Given the description of an element on the screen output the (x, y) to click on. 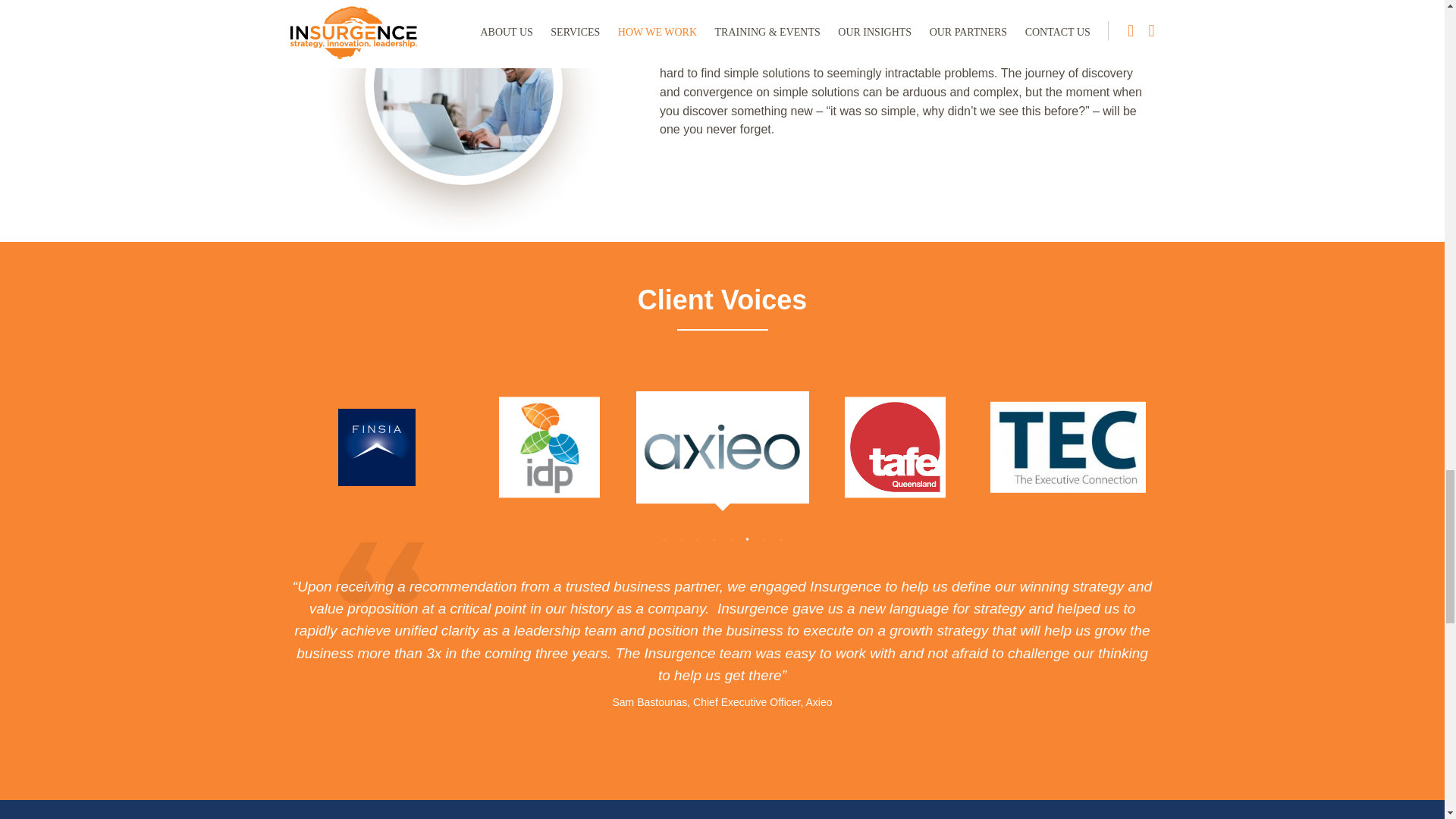
2 (680, 539)
7 (764, 539)
1 (663, 539)
6 (747, 539)
4 (714, 539)
8 (781, 539)
3 (697, 539)
5 (730, 539)
